Given the description of an element on the screen output the (x, y) to click on. 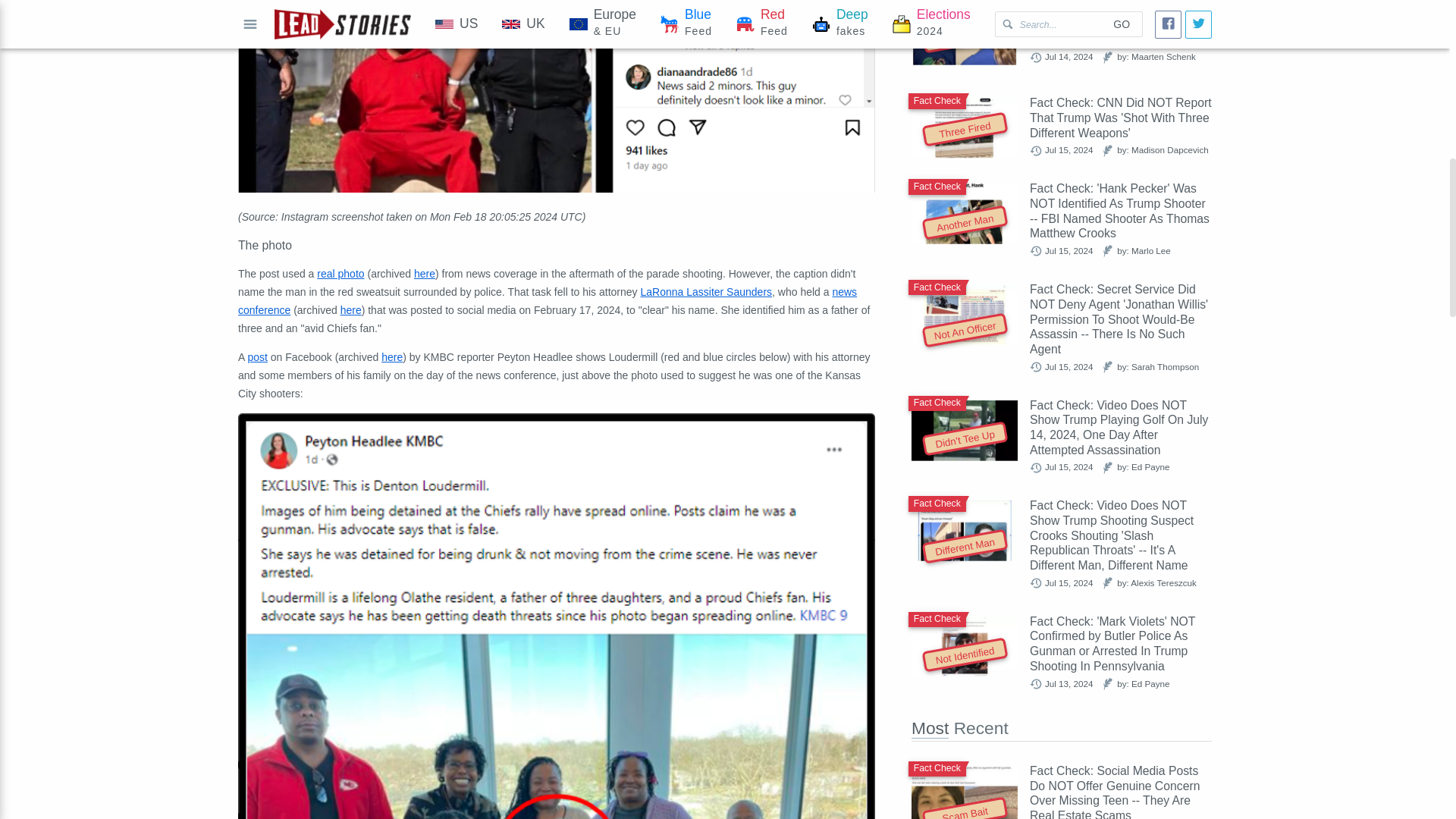
post (256, 357)
news conference (547, 300)
here (424, 273)
LaRonna Lassiter Saunders (705, 291)
here (350, 309)
here (392, 357)
real photo (340, 273)
